Given the description of an element on the screen output the (x, y) to click on. 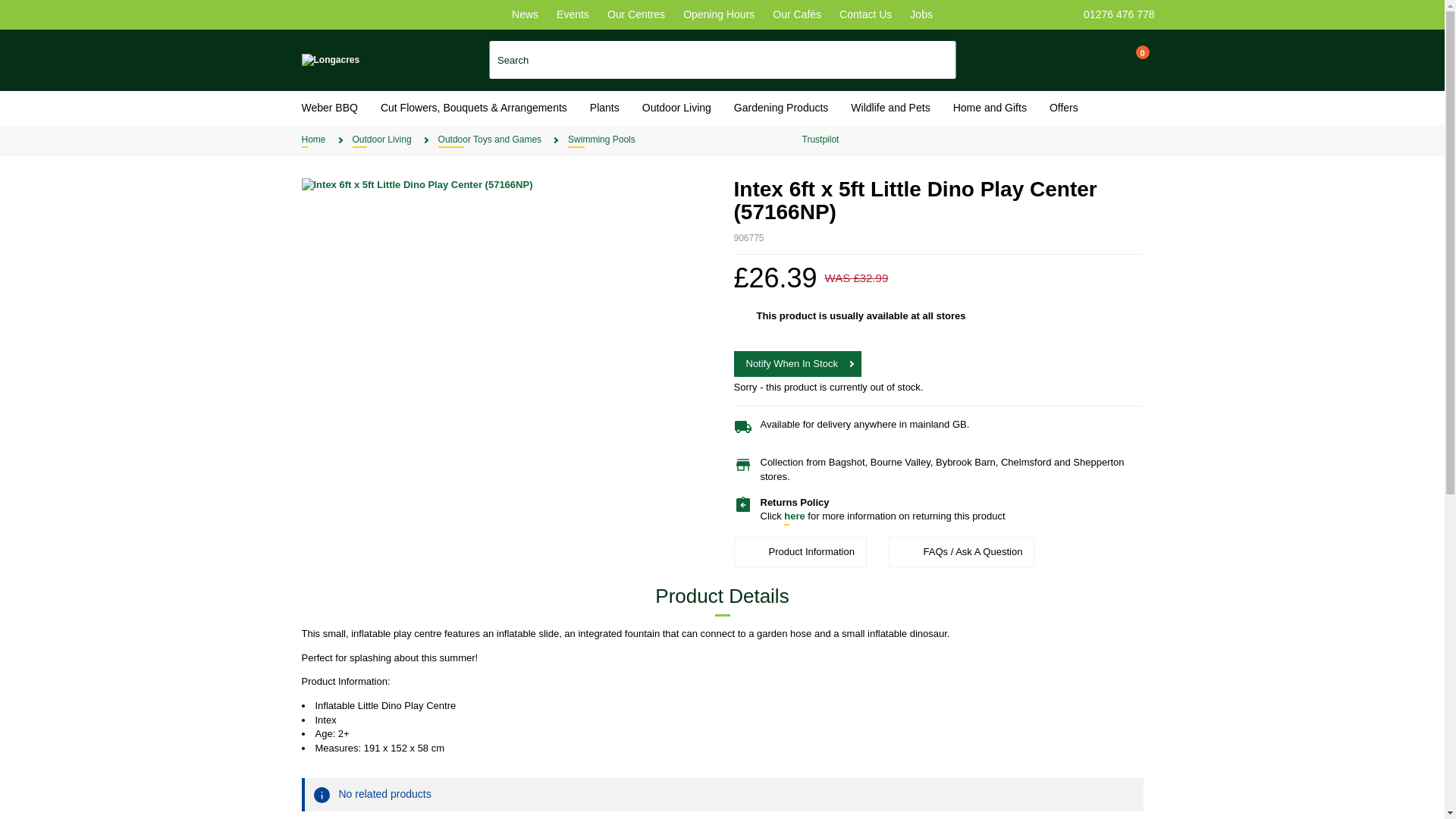
Contact Us (865, 14)
Events (572, 14)
News (525, 14)
Opening Hours (718, 14)
Jobs (921, 14)
Weber BBQ (328, 108)
01276 476 778 (1118, 14)
Our Centres (636, 14)
Sign In (1095, 59)
Basket (1128, 55)
0 (1128, 55)
Contact Us (865, 14)
Jobs (921, 14)
Weber BBQ (328, 108)
Opening Hours (718, 14)
